Given the description of an element on the screen output the (x, y) to click on. 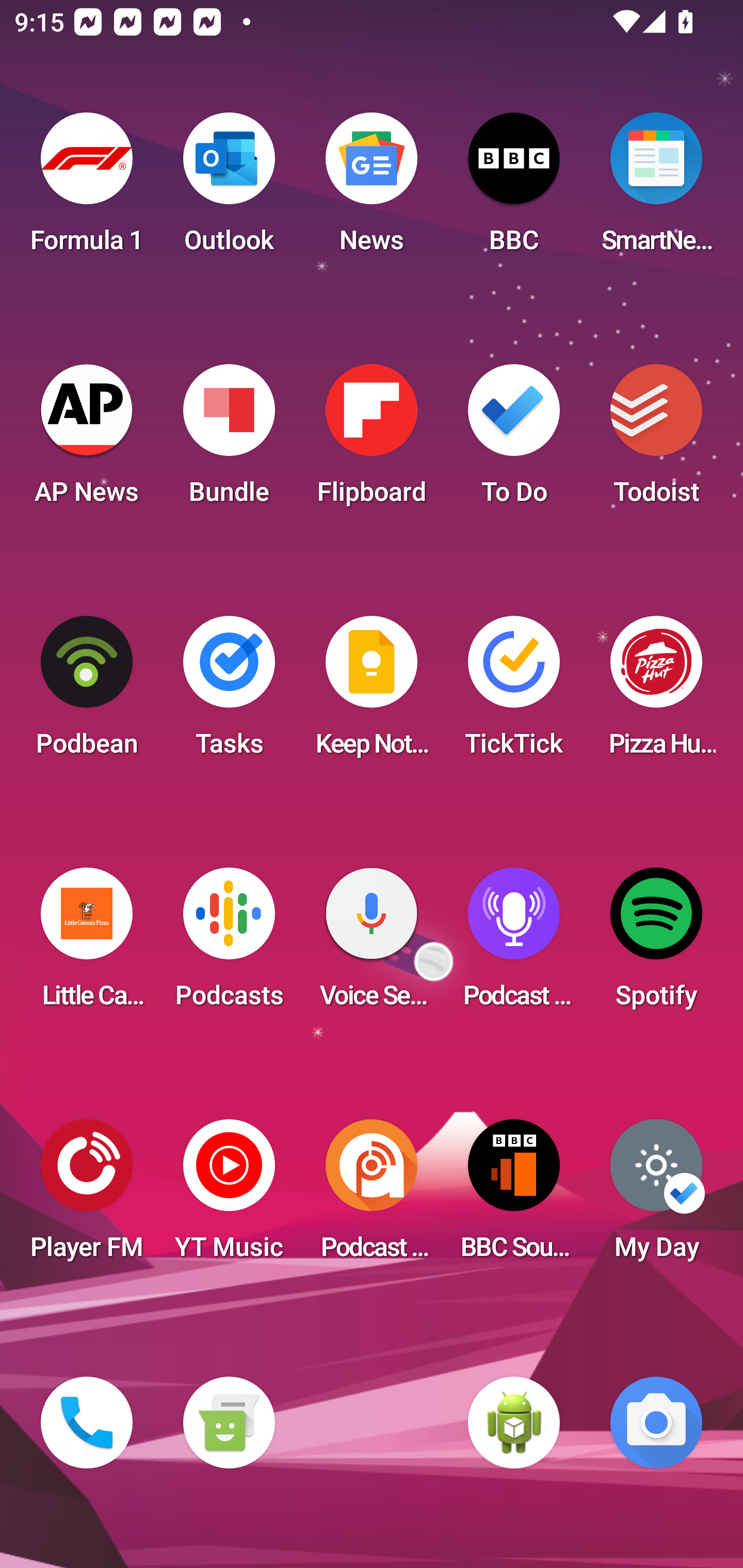
Formula 1 (86, 188)
Outlook (228, 188)
News (371, 188)
BBC (513, 188)
SmartNews (656, 188)
AP News (86, 440)
Bundle (228, 440)
Flipboard (371, 440)
To Do (513, 440)
Todoist (656, 440)
Podbean (86, 692)
Tasks (228, 692)
Keep Notes (371, 692)
TickTick (513, 692)
Pizza Hut HK & Macau (656, 692)
Little Caesars Pizza (86, 943)
Podcasts (228, 943)
Voice Search (371, 943)
Podcast Player (513, 943)
Spotify (656, 943)
Player FM (86, 1195)
YT Music (228, 1195)
Podcast Addict (371, 1195)
BBC Sounds (513, 1195)
My Day (656, 1195)
Phone (86, 1422)
Messaging (228, 1422)
WebView Browser Tester (513, 1422)
Camera (656, 1422)
